Given the description of an element on the screen output the (x, y) to click on. 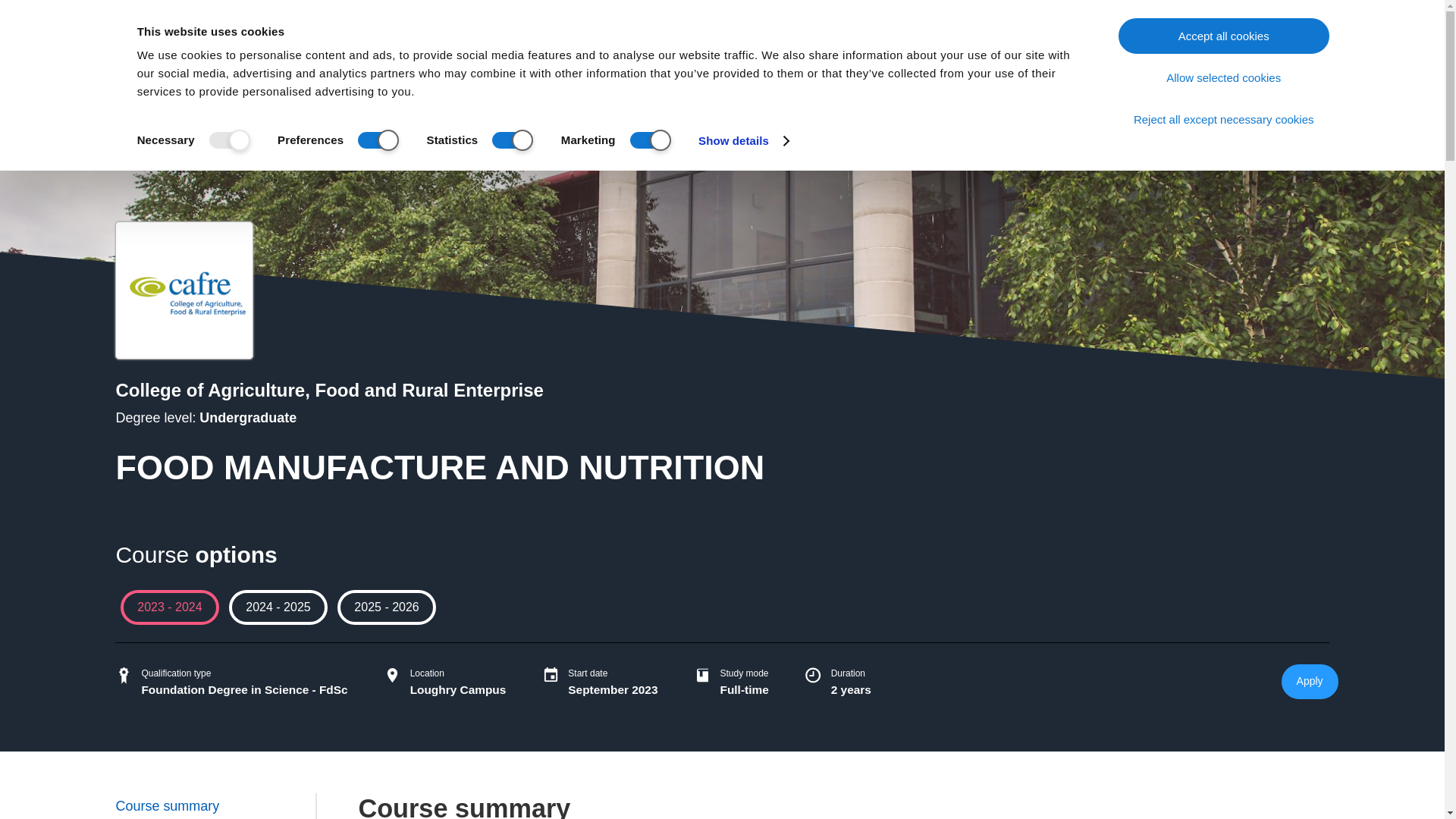
Show details (742, 140)
